Given the description of an element on the screen output the (x, y) to click on. 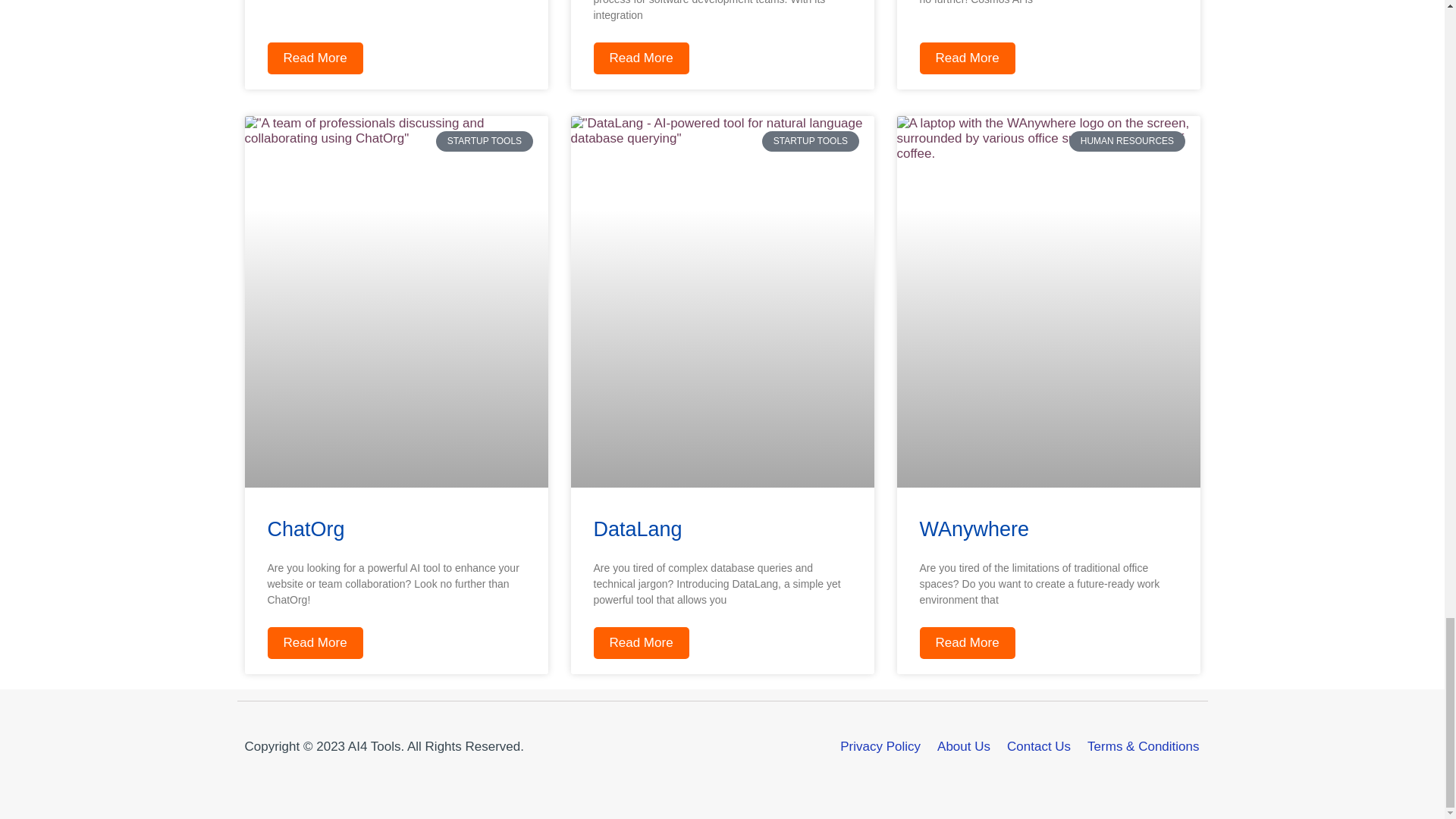
WAnywhere (973, 528)
Contact Us (1038, 746)
Read More (640, 643)
Read More (314, 58)
Read More (640, 58)
DataLang (636, 528)
Read More (966, 58)
Privacy Policy (880, 746)
About Us (963, 746)
Read More (966, 643)
